Given the description of an element on the screen output the (x, y) to click on. 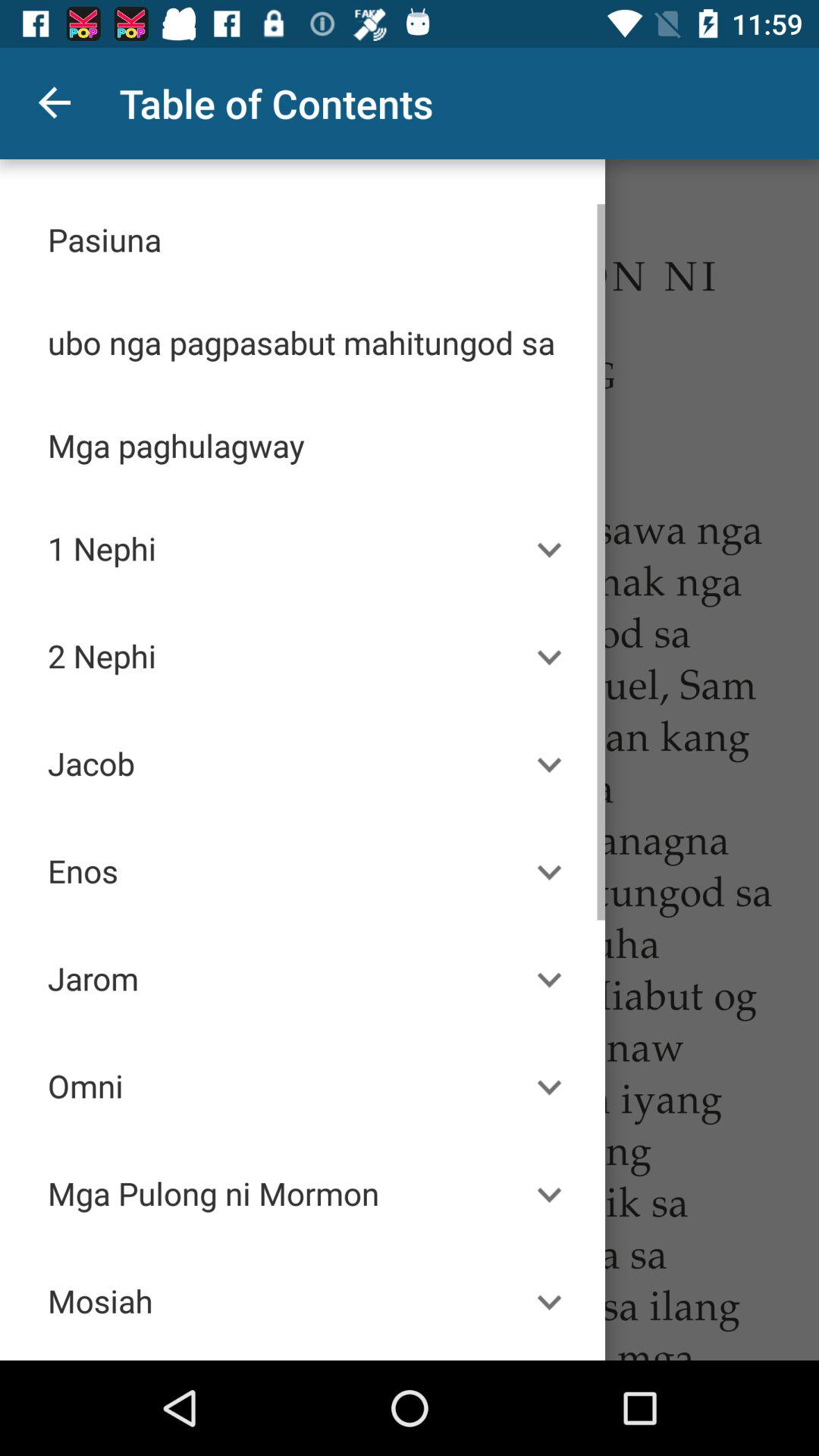
turn off the item at the top left corner (55, 103)
